Given the description of an element on the screen output the (x, y) to click on. 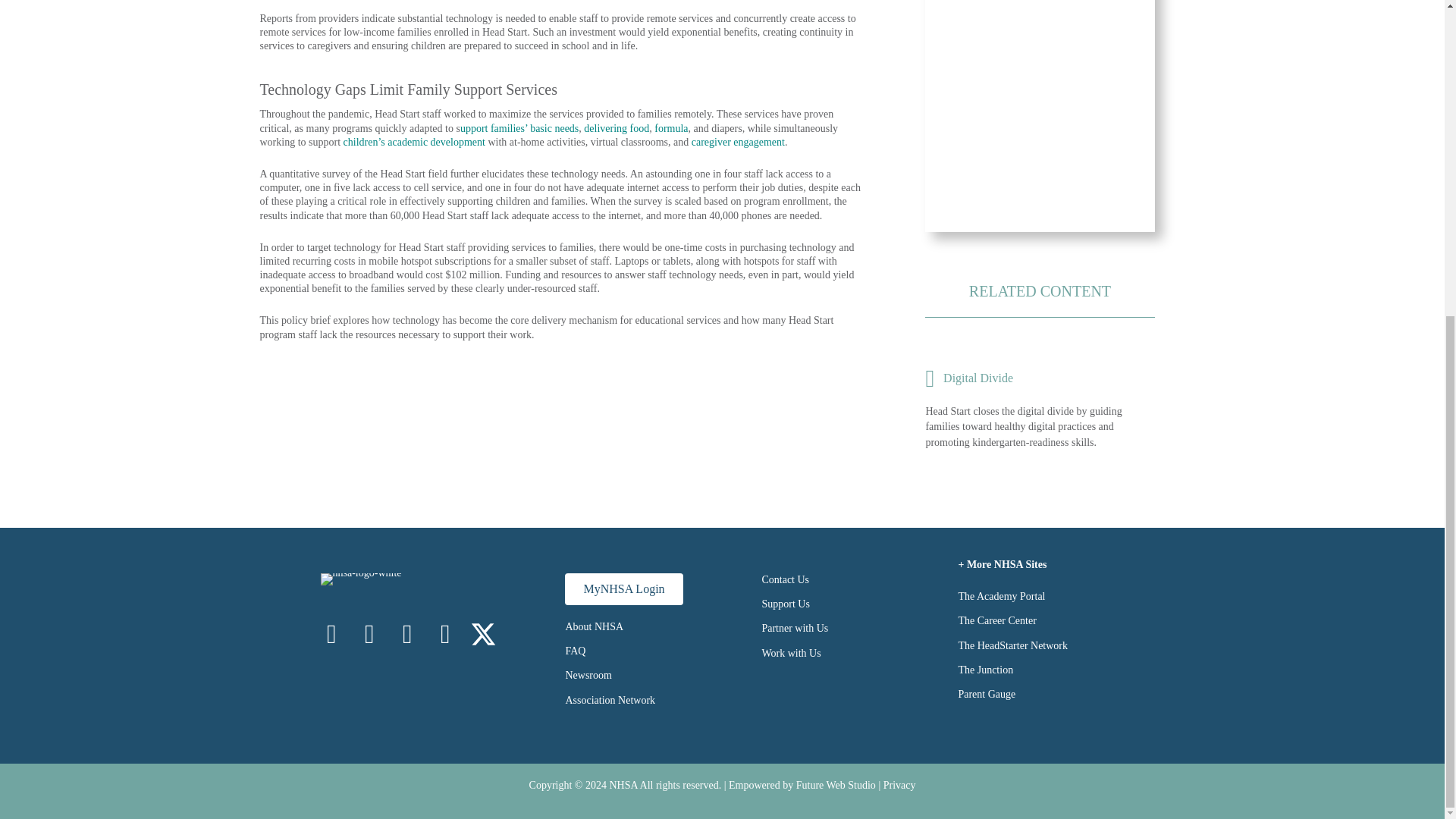
About NHSA (593, 626)
YouTube (445, 634)
NHSA (622, 785)
LinkedIn (407, 634)
Instagram (369, 634)
Digital Divide (1039, 378)
delivering food (616, 128)
caregiver engagement (737, 142)
FAQ (574, 650)
formula (670, 128)
